Given the description of an element on the screen output the (x, y) to click on. 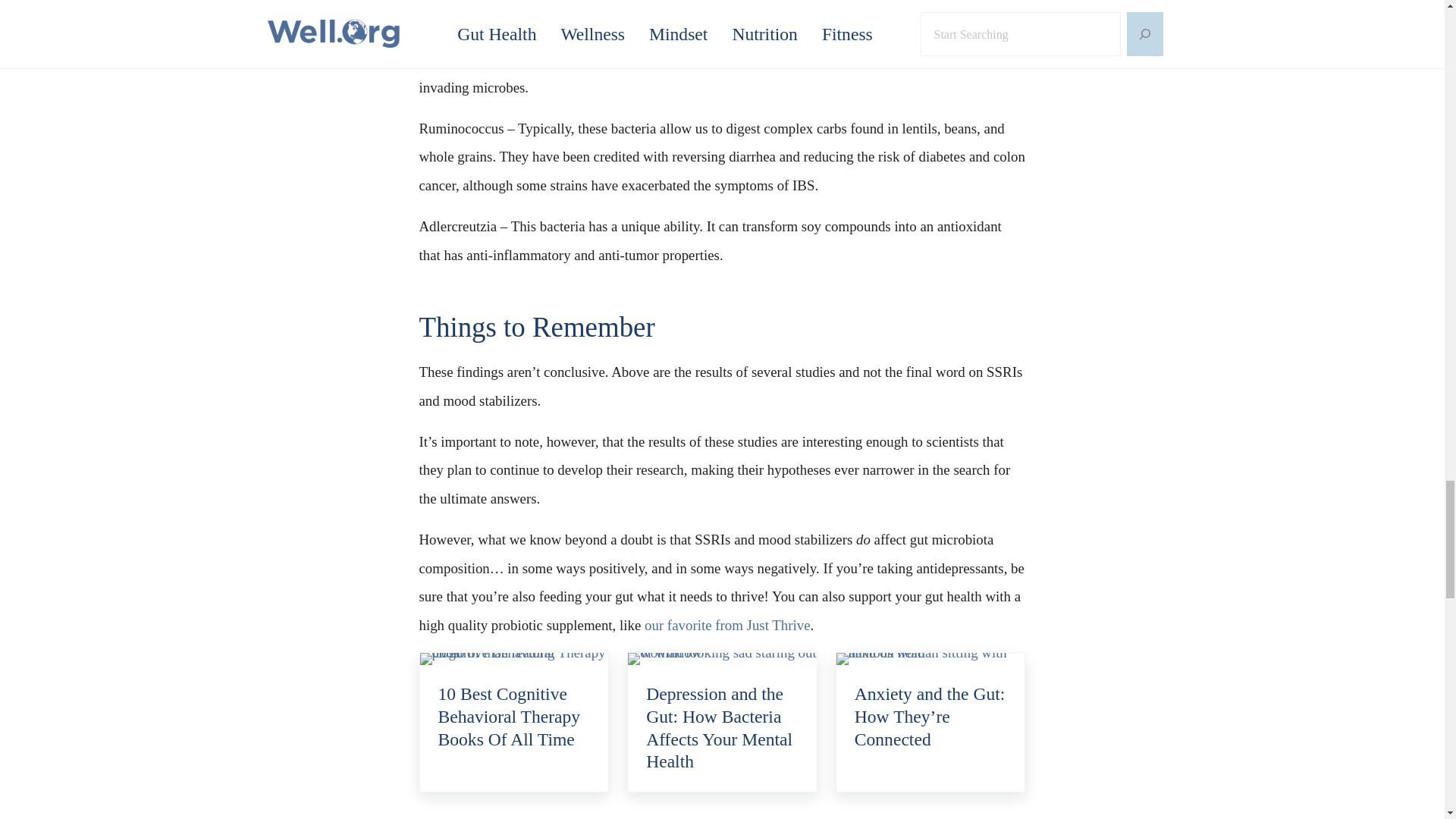
10 Best Cognitive Behavioral Therapy Books Of All Time (514, 717)
our favorite from Just Thrive (727, 625)
